Given the description of an element on the screen output the (x, y) to click on. 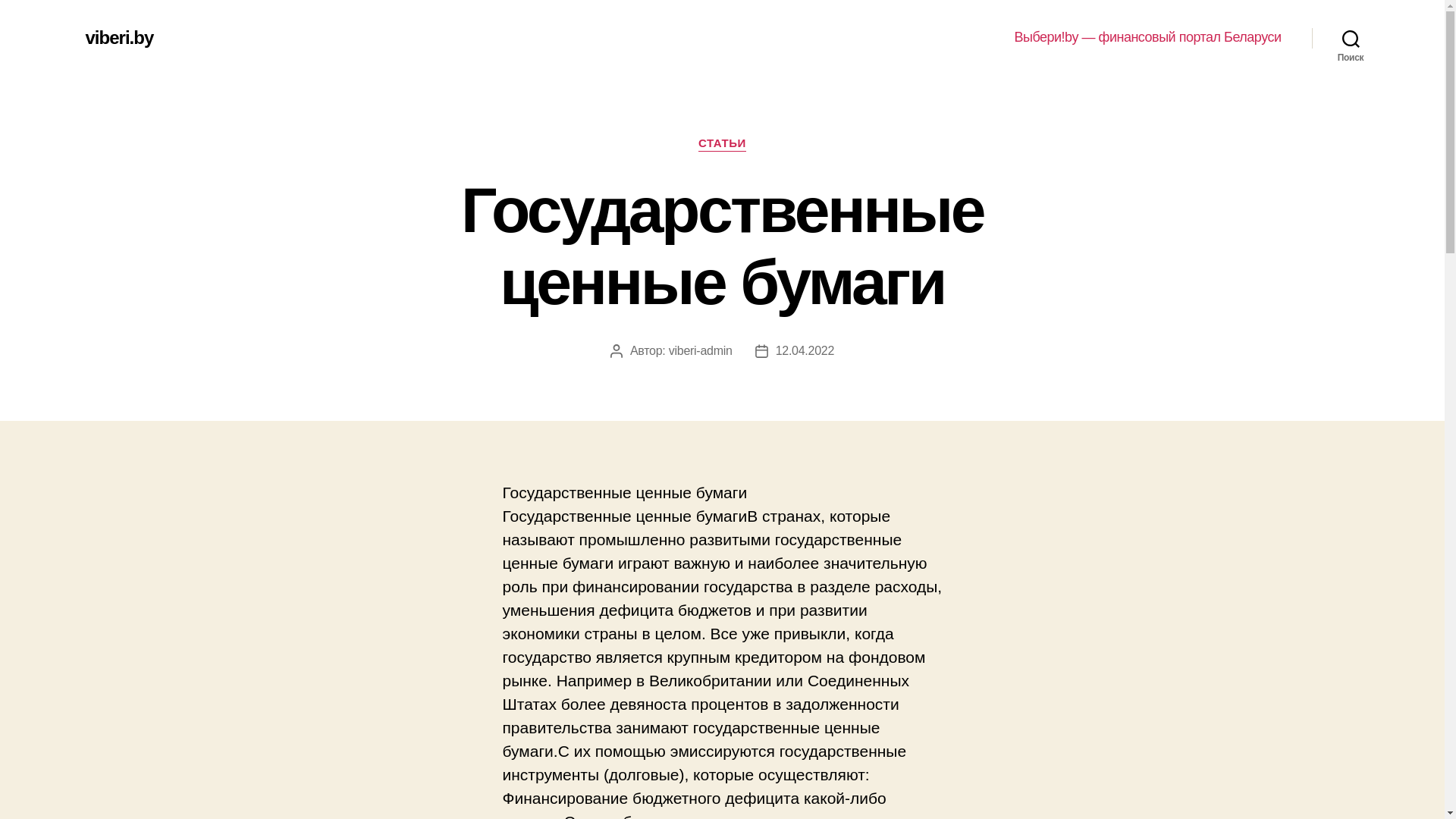
12.04.2022 Element type: text (804, 350)
viberi.by Element type: text (118, 37)
viberi-admin Element type: text (700, 350)
